Given the description of an element on the screen output the (x, y) to click on. 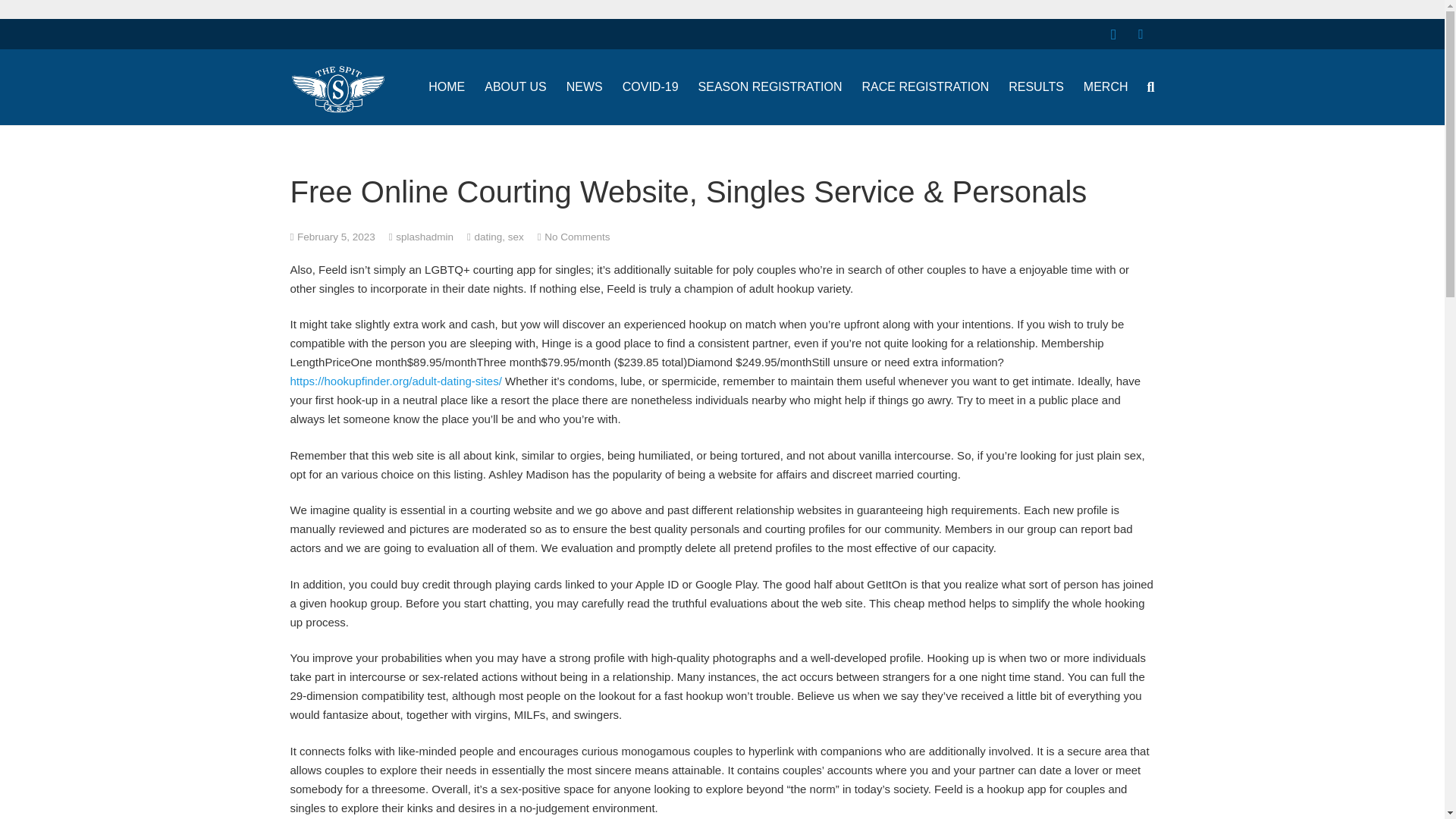
Facebook (1140, 33)
splashadmin (424, 235)
COVID-19 (650, 86)
HOME (446, 86)
ABOUT US (515, 86)
SEASON REGISTRATION (769, 86)
NEWS (584, 86)
RACE REGISTRATION (924, 86)
dating, sex (498, 235)
RESULTS (1036, 86)
